Given the description of an element on the screen output the (x, y) to click on. 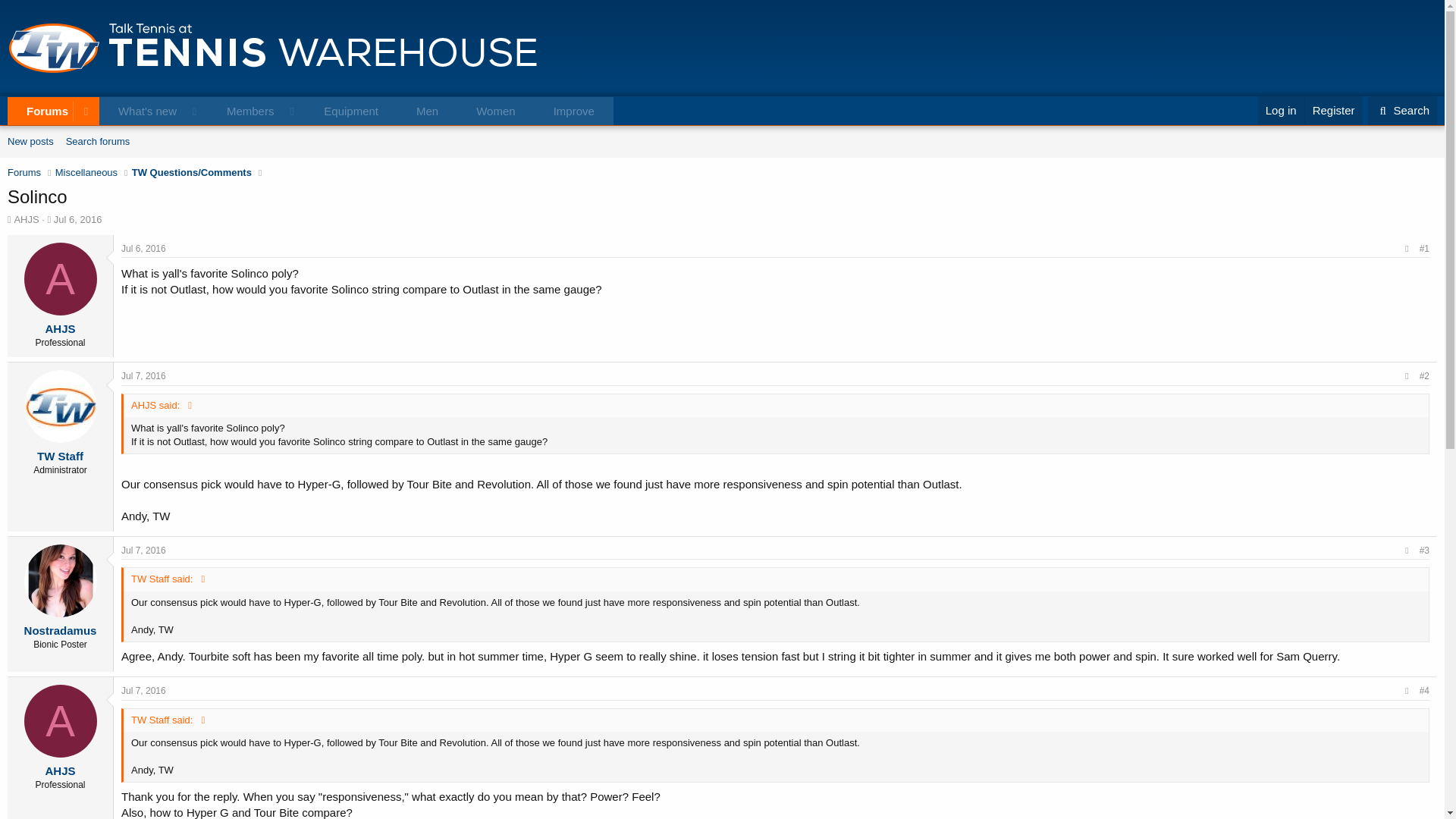
TW Staff said: (170, 578)
Search (1402, 110)
Jul 7, 2016 at 9:09 AM (142, 550)
Jul 6, 2016 (77, 219)
Jul 7, 2016 at 10:19 AM (142, 690)
Jul 6, 2016 (142, 248)
Start date (48, 219)
Equipment (350, 111)
Jul 7, 2016 (142, 690)
A (60, 278)
Women (495, 111)
Register (310, 111)
A (1333, 110)
Nostradamus (60, 720)
